Given the description of an element on the screen output the (x, y) to click on. 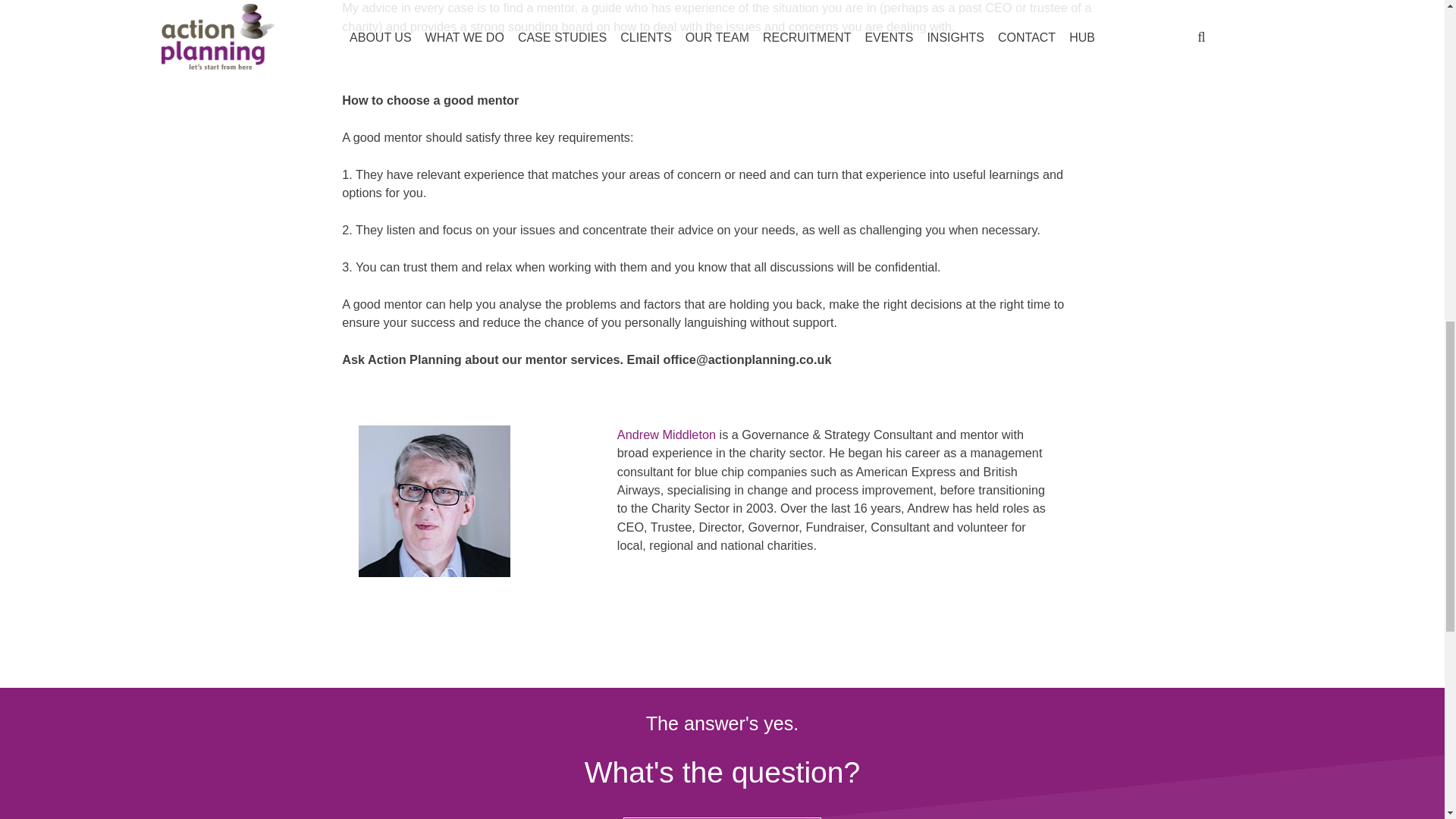
Andrew Johnson (434, 501)
Andrew Middleton (666, 434)
